Given the description of an element on the screen output the (x, y) to click on. 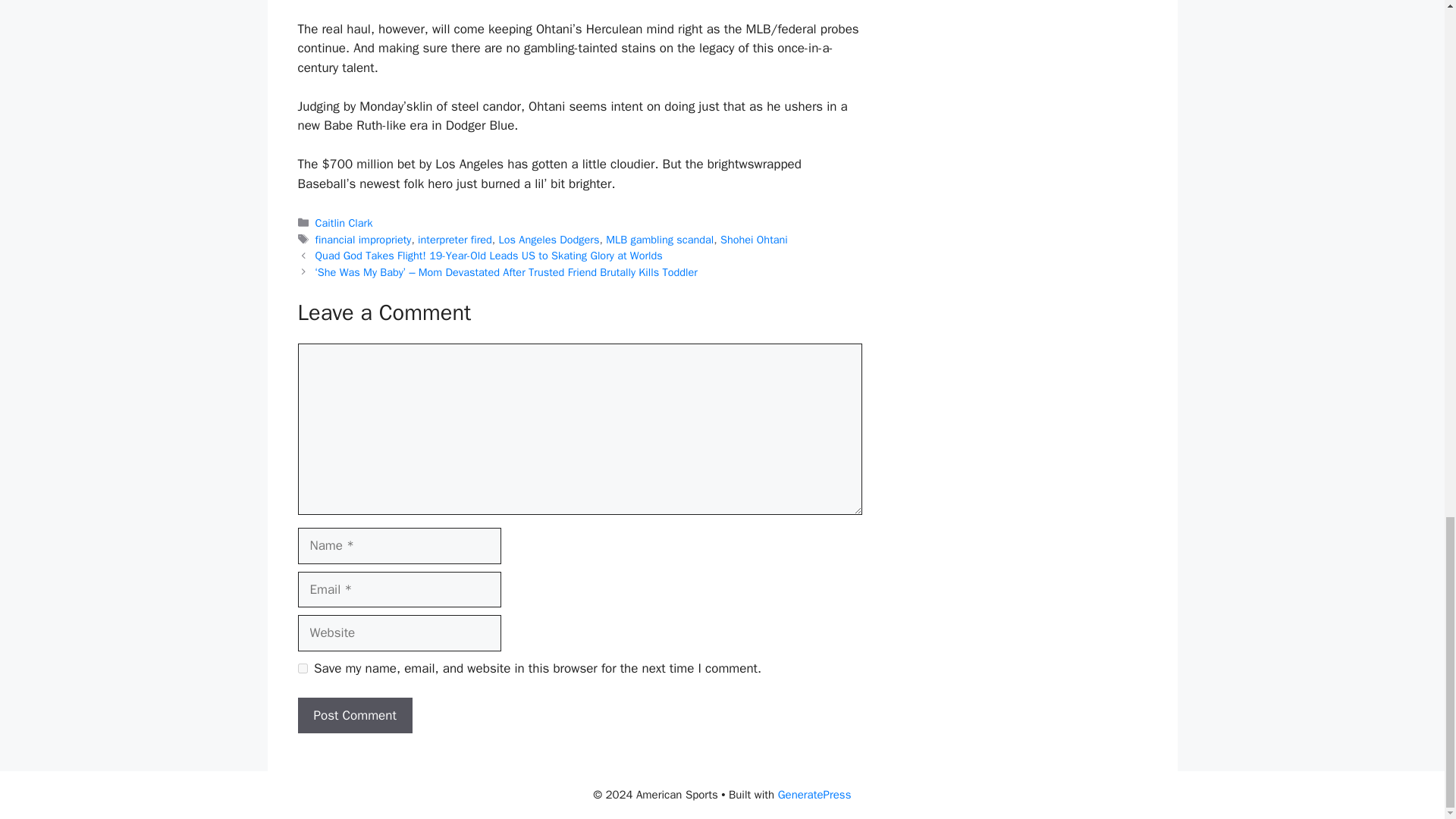
Post Comment (354, 715)
GeneratePress (814, 794)
financial impropriety (363, 239)
Caitlin Clark (343, 223)
Shohei Ohtani (753, 239)
Los Angeles Dodgers (549, 239)
MLB gambling scandal (659, 239)
interpreter fired (454, 239)
Post Comment (354, 715)
